Given the description of an element on the screen output the (x, y) to click on. 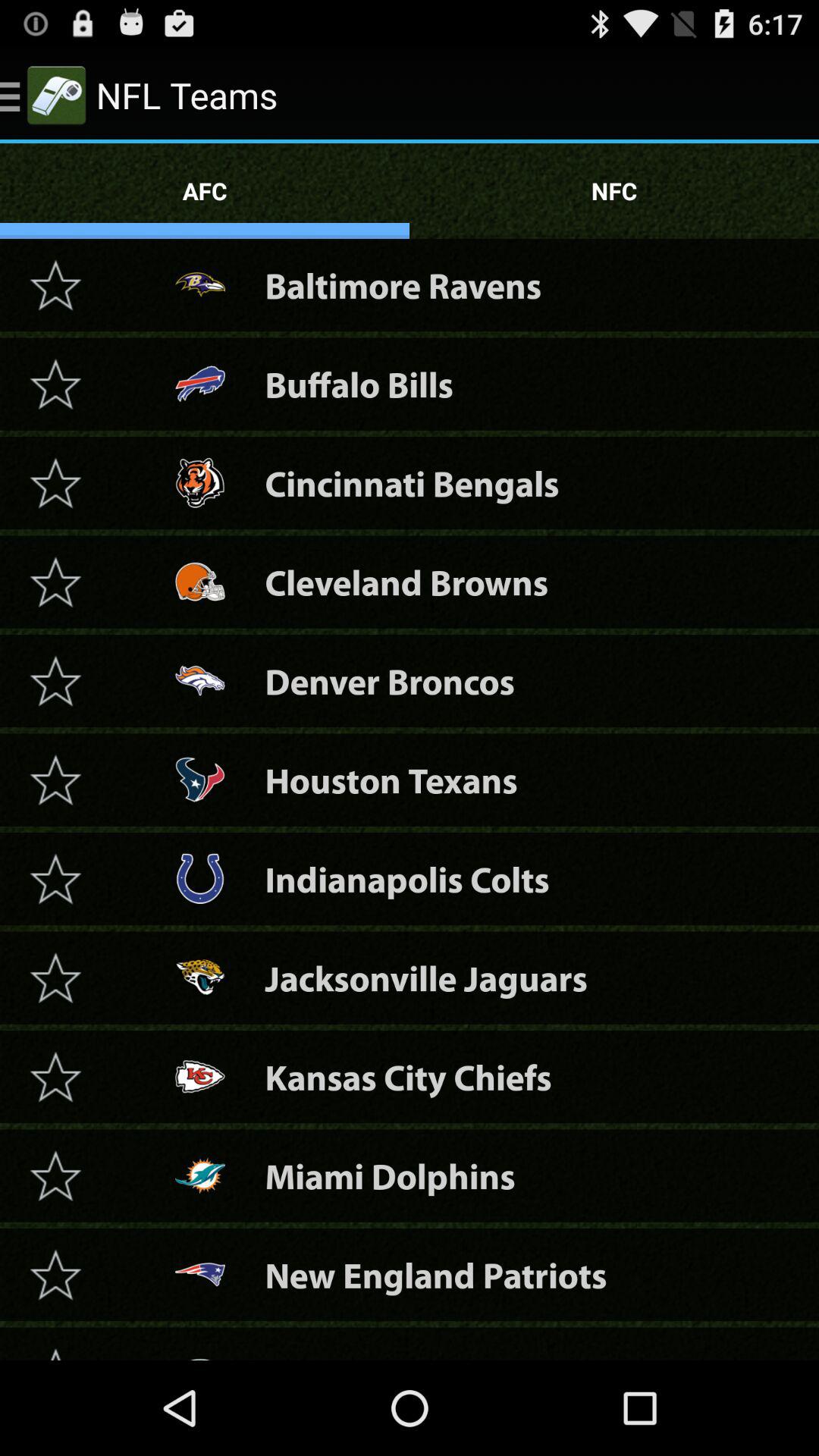
turn on the item at the top right corner (614, 190)
